Given the description of an element on the screen output the (x, y) to click on. 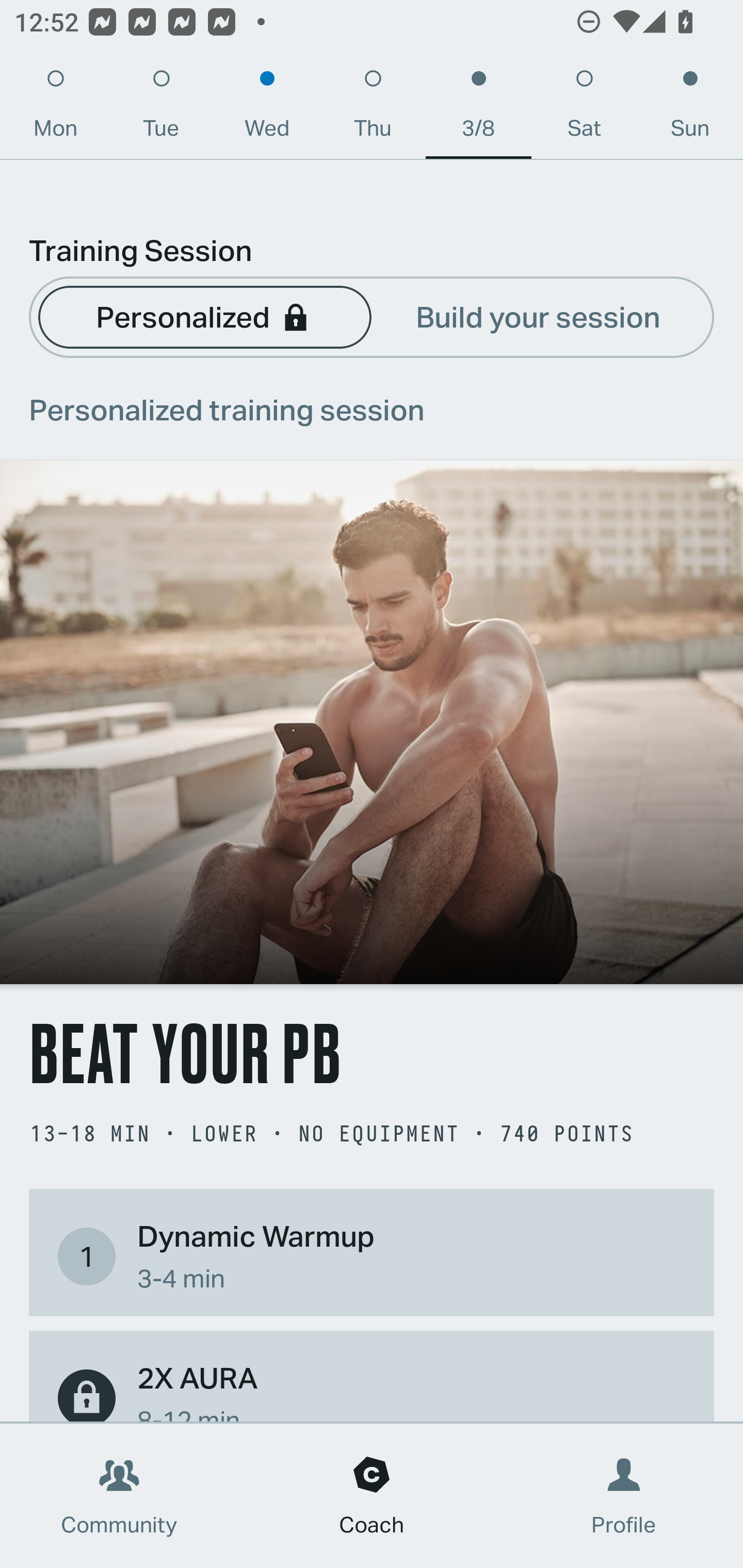
Mon (55, 108)
Tue (160, 108)
Wed (266, 108)
Thu (372, 108)
3/8 (478, 108)
Sat (584, 108)
Sun (690, 108)
Personalized (204, 315)
Build your session (538, 315)
1 Dynamic Warmup 3-4 min (371, 1256)
2X AURA 8-12 min (371, 1388)
Community (119, 1495)
Profile (624, 1495)
